Given the description of an element on the screen output the (x, y) to click on. 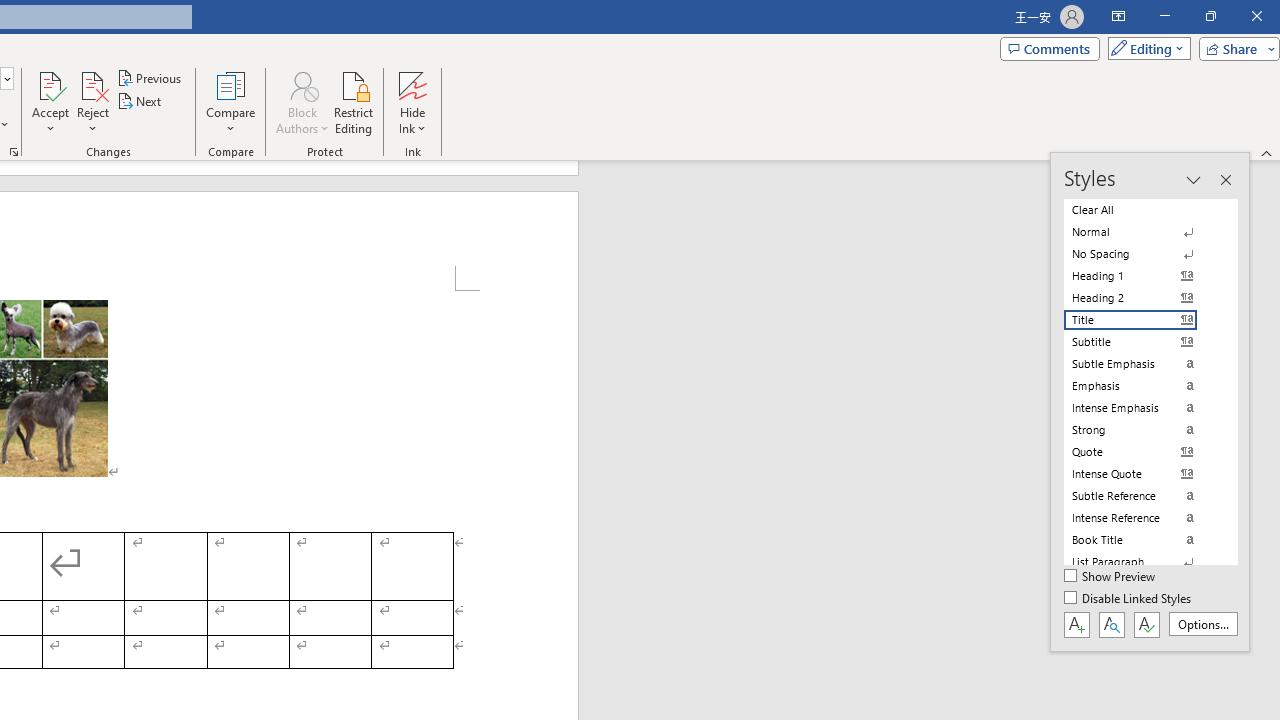
Block Authors (302, 84)
Intense Emphasis (1142, 407)
Restrict Editing (353, 102)
Reject and Move to Next (92, 84)
Previous (150, 78)
